Given the description of an element on the screen output the (x, y) to click on. 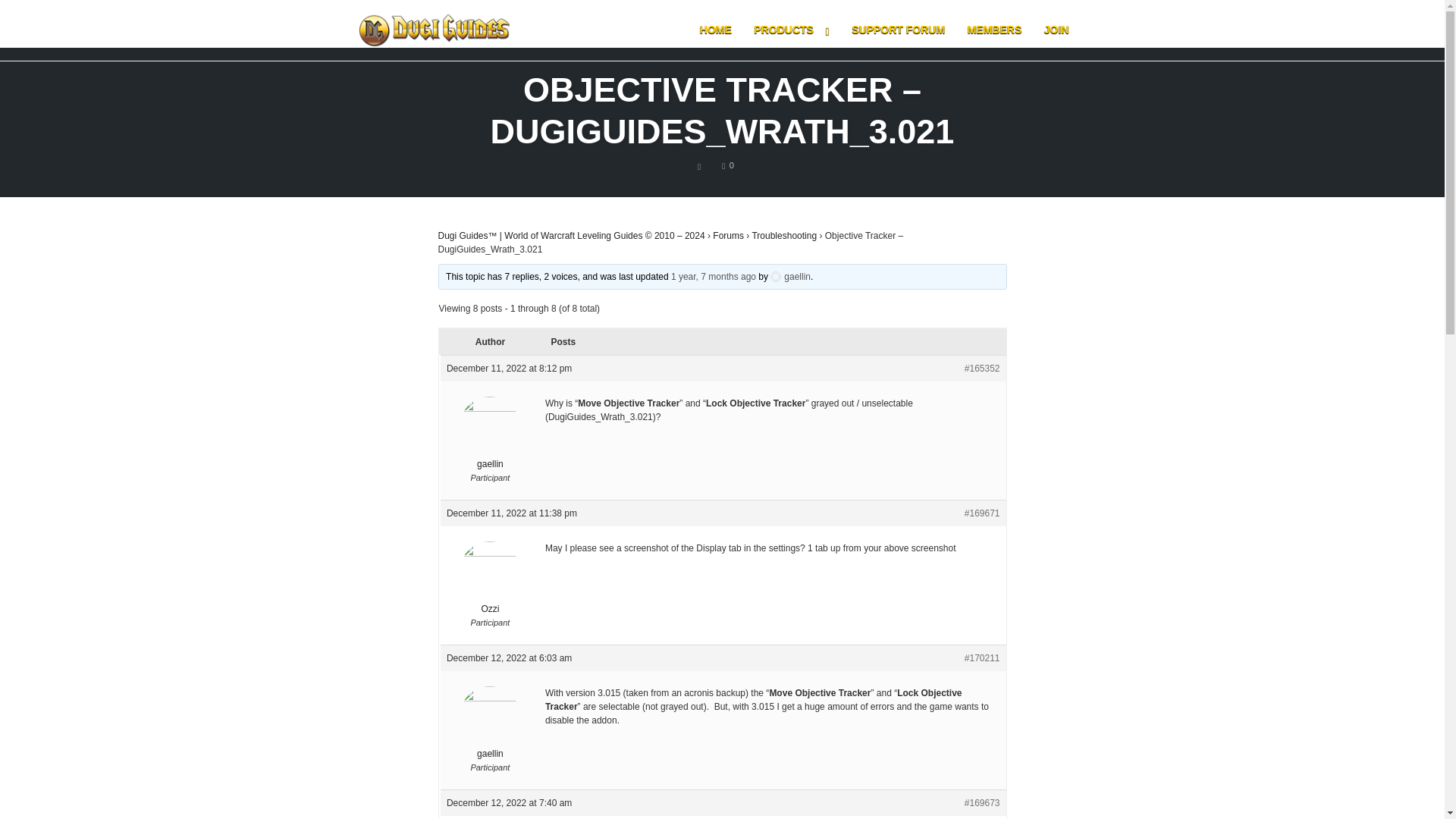
View gaellin's profile (490, 433)
gaellin (790, 276)
View gaellin's profile (490, 723)
gaellin (490, 433)
Ozzi (727, 164)
View gaellin's profile (490, 578)
Dugi Guides - World of Warcraft Level Guides 2010 - 2024 (790, 276)
gaellin (433, 29)
Troubleshooting (490, 723)
HOME (783, 235)
SUPPORT FORUM (715, 29)
MEMBERS (898, 29)
Forums (994, 29)
PRODUCTS (728, 235)
